Given the description of an element on the screen output the (x, y) to click on. 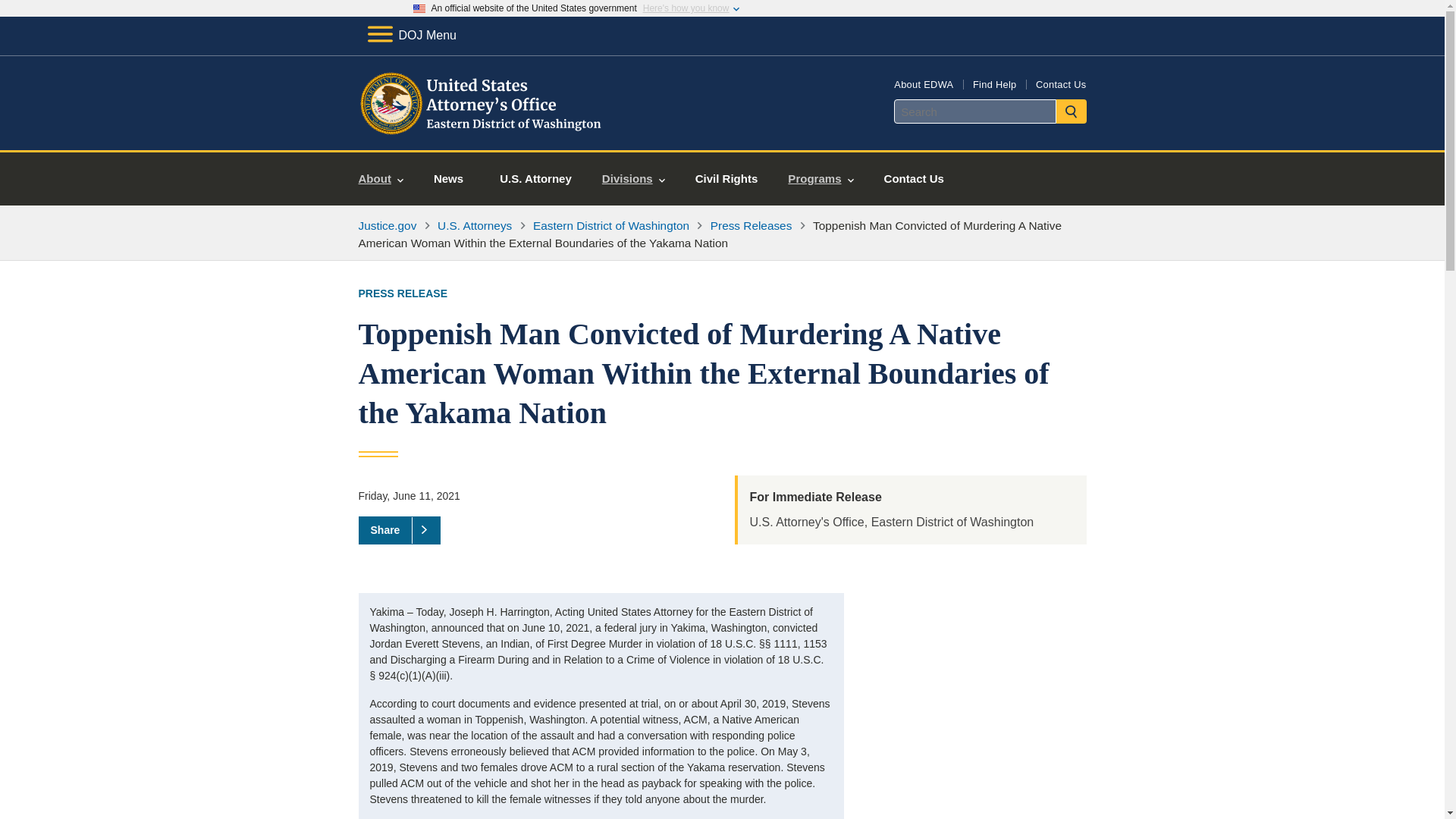
Eastern District of Washington (610, 225)
Home (481, 132)
Here's how you know (686, 8)
Press Releases (751, 225)
About (380, 179)
Share (398, 529)
Programs (820, 179)
Civil Rights (726, 179)
About EDWA (923, 84)
DOJ Menu (411, 35)
